Given the description of an element on the screen output the (x, y) to click on. 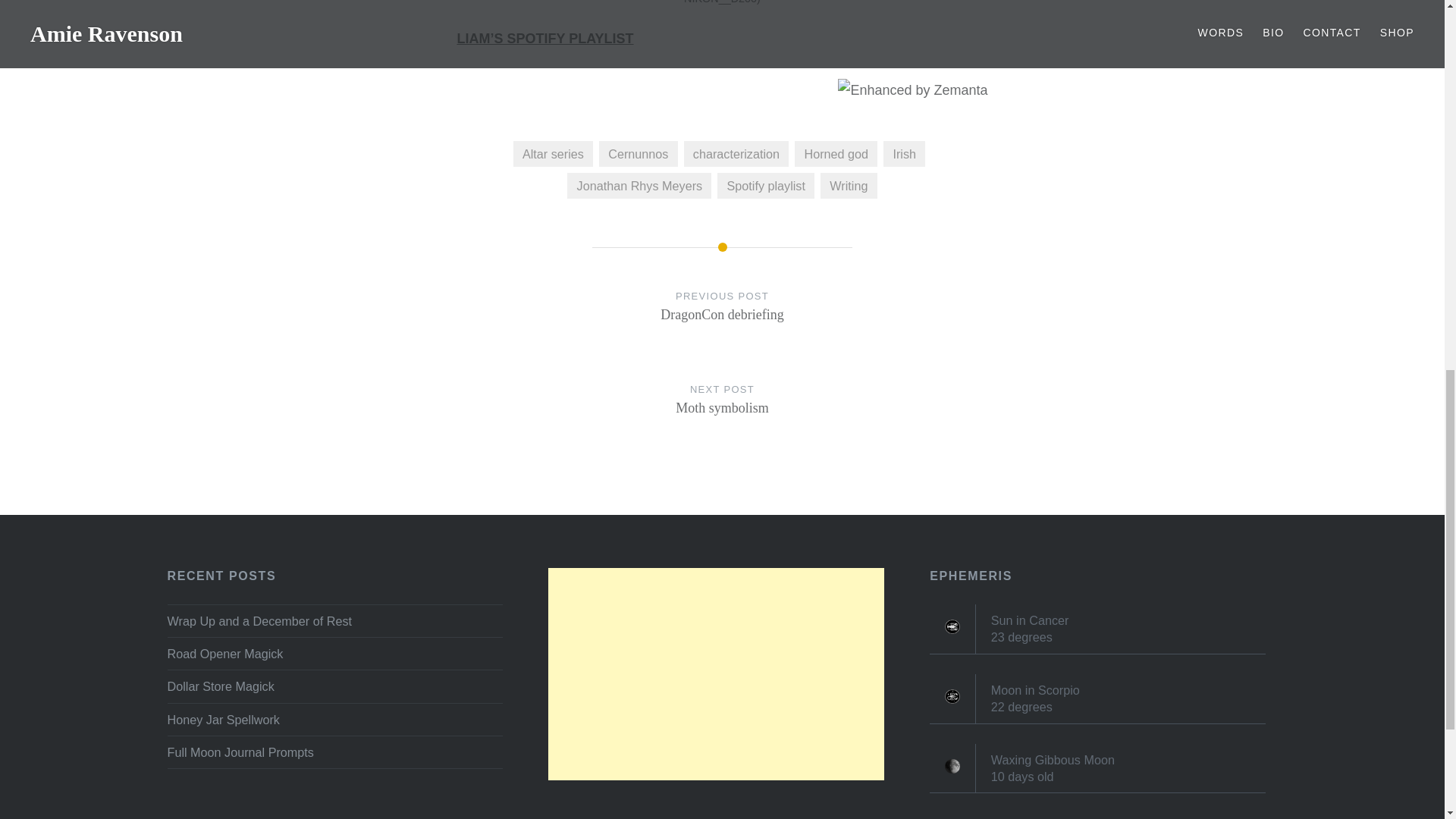
Scorpio (951, 696)
Dollar Store Magick (334, 686)
Jonathan Rhys Meyers (639, 185)
Honey Jar Spellwork (334, 719)
Spotify playlist (765, 185)
Horned god (835, 153)
Cernunnos (637, 153)
Altar series (552, 153)
Full Moon Journal Prompts (334, 752)
Advertisement (715, 674)
Wrap Up and a December of Rest (334, 620)
Cancer (722, 320)
characterization (722, 413)
